Given the description of an element on the screen output the (x, y) to click on. 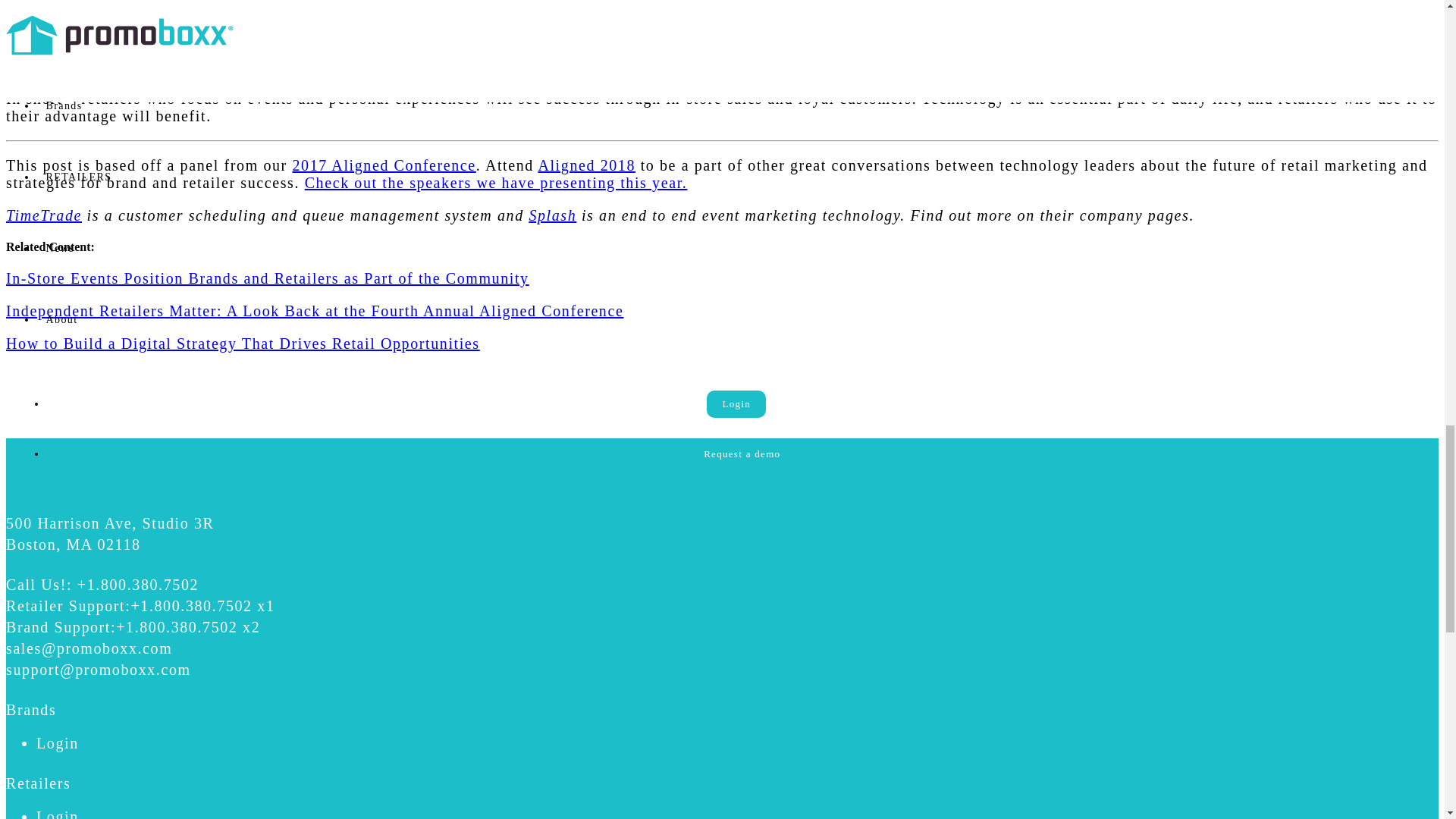
Check out the speakers we have presenting this year. (495, 182)
Splash (552, 215)
TimeTrade (43, 215)
Aligned 2018 (585, 165)
2017 Aligned Conference (384, 165)
